Given the description of an element on the screen output the (x, y) to click on. 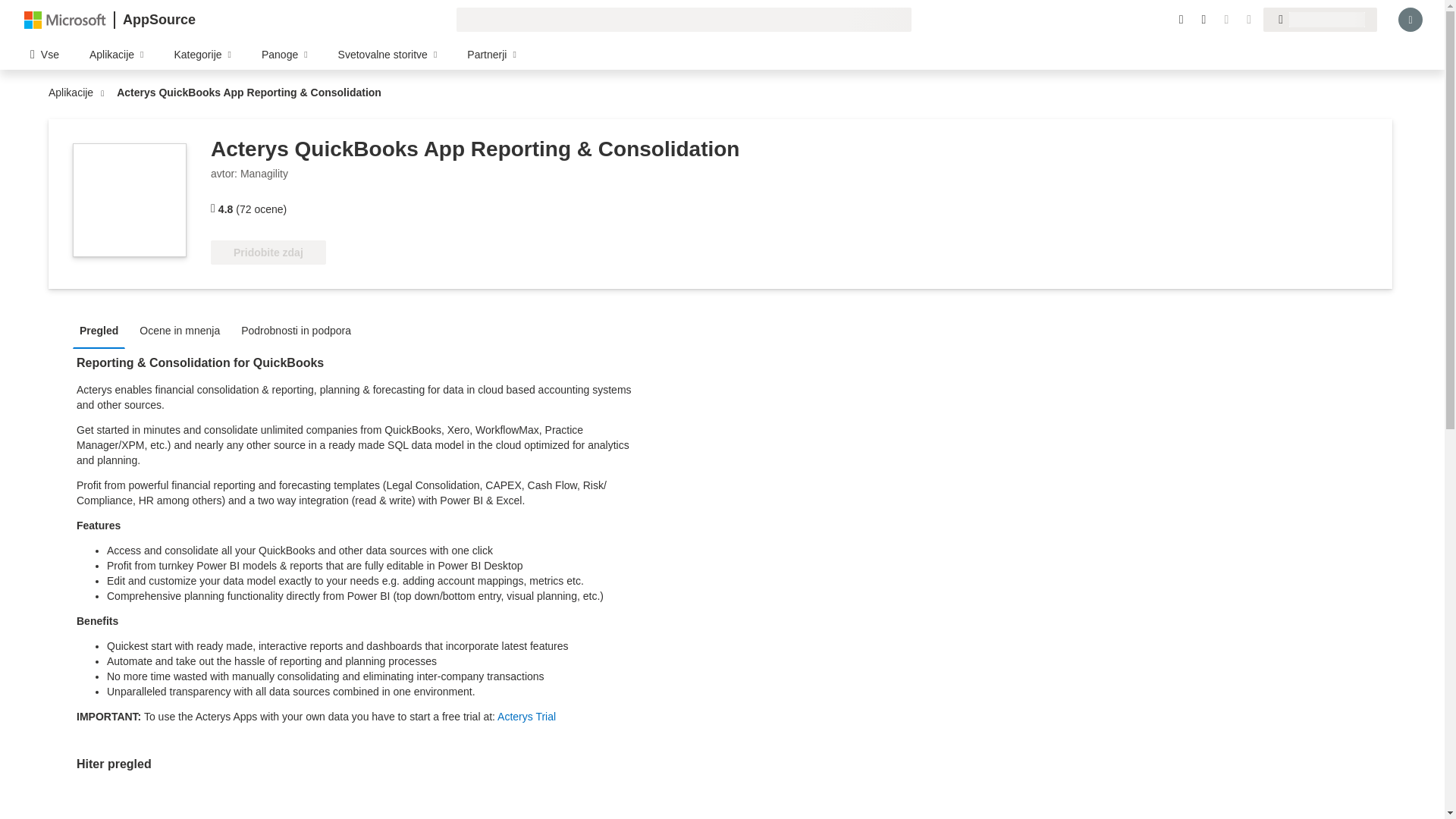
Acterys Trial (526, 716)
Pridobite zdaj (268, 252)
AppSource (158, 19)
Ocene in mnenja (183, 329)
Aplikacije (74, 92)
Microsoft (65, 18)
Pregled (102, 329)
Podrobnosti in podpora (299, 329)
